Given the description of an element on the screen output the (x, y) to click on. 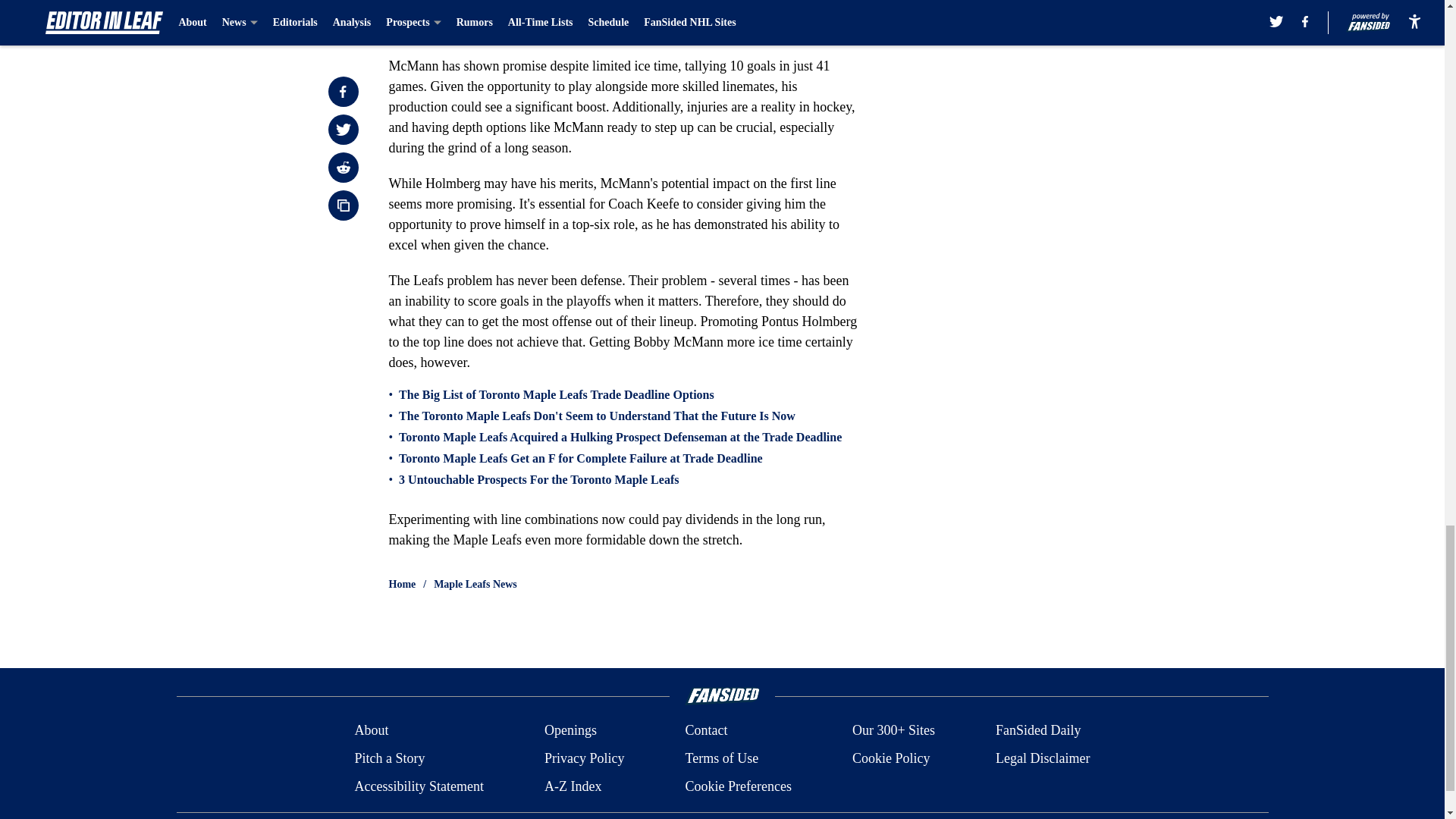
Contact (705, 730)
Maple Leafs News (474, 584)
3 Untouchable Prospects For the Toronto Maple Leafs (538, 479)
About (370, 730)
The Big List of Toronto Maple Leafs Trade Deadline Options (556, 395)
FanSided Daily (1038, 730)
Home (401, 584)
